Given the description of an element on the screen output the (x, y) to click on. 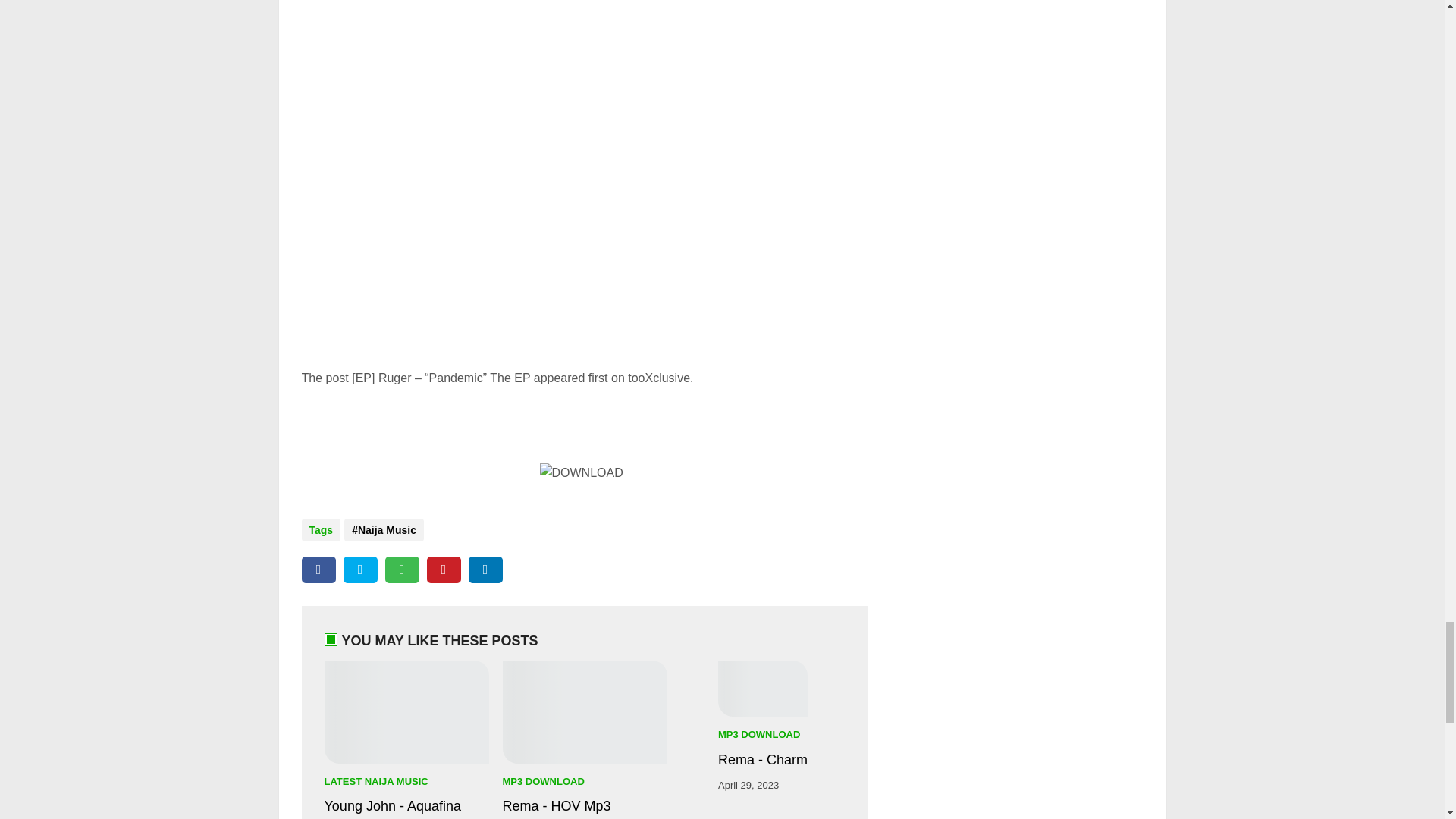
Rema - HOV Mp3 Download  (584, 711)
Rema - HOV Mp3 Download  (584, 807)
Young John - Aquafina Mp3 Download (406, 807)
tooXclusive (658, 377)
Young John - Aquafina Mp3 Download (406, 711)
Naija Music (383, 529)
Rema - Charm  (762, 688)
Rema - Charm  (762, 760)
